Given the description of an element on the screen output the (x, y) to click on. 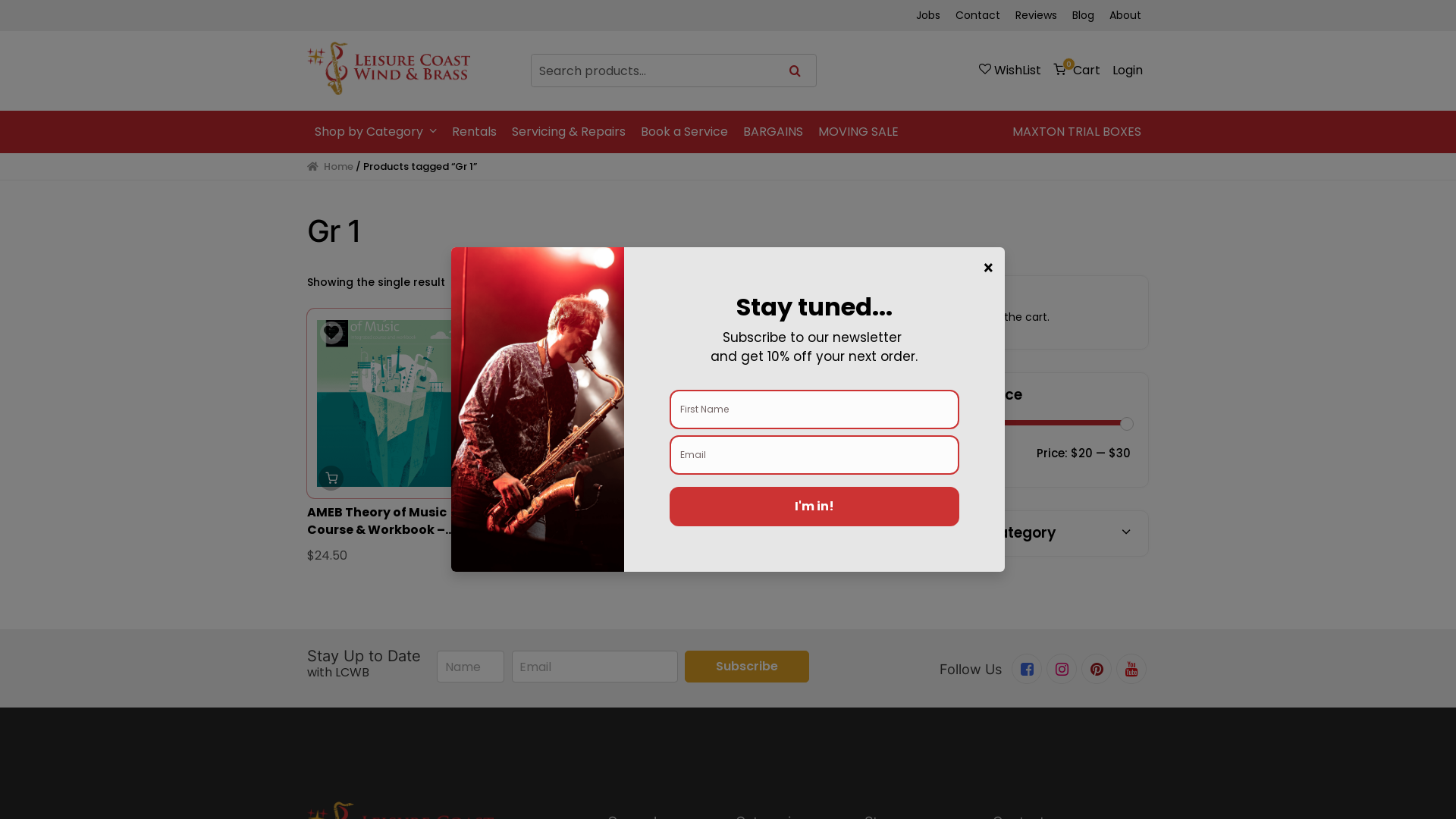
About Element type: text (1124, 15)
Jobs Element type: text (927, 15)
WishList Element type: text (1009, 69)
BARGAINS Element type: text (772, 131)
Shop by Category Element type: text (375, 131)
Subscribe Element type: text (746, 666)
Home Element type: text (330, 166)
Book a Service Element type: text (684, 131)
MAXTON TRIAL BOXES Element type: text (1076, 131)
Filter Element type: text (948, 455)
Rentals Element type: text (474, 131)
0 Element type: text (1076, 69)
Blog Element type: text (1082, 15)
Reviews Element type: text (1035, 15)
Contact Element type: text (977, 15)
Servicing & Repairs Element type: text (568, 131)
MOVING SALE Element type: text (858, 131)
Login Element type: text (1127, 69)
